Given the description of an element on the screen output the (x, y) to click on. 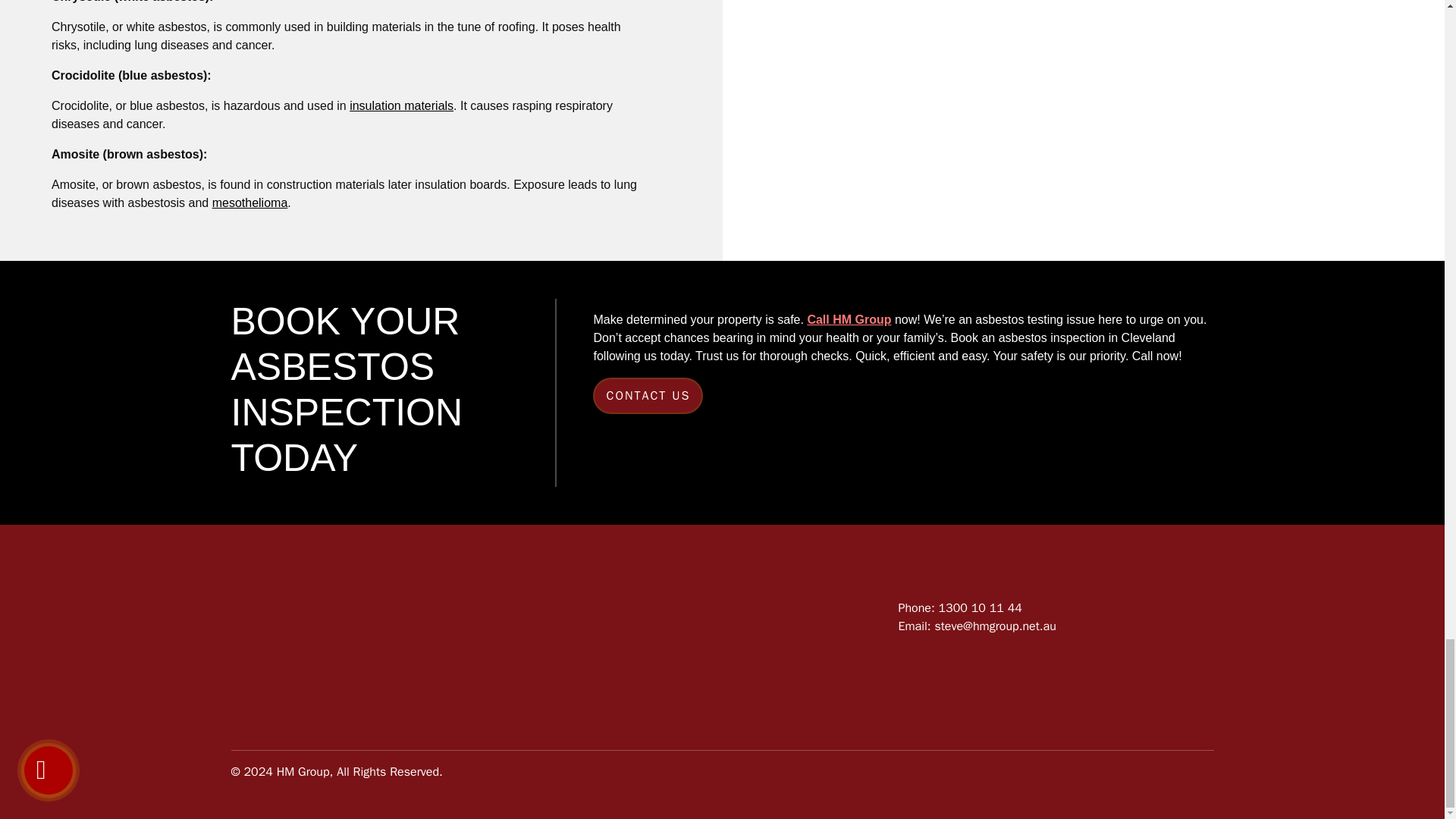
Call HM Group (848, 318)
mesothelioma (250, 202)
CONTACT US (647, 395)
insulation materials (400, 105)
CONTACT US (647, 395)
